Given the description of an element on the screen output the (x, y) to click on. 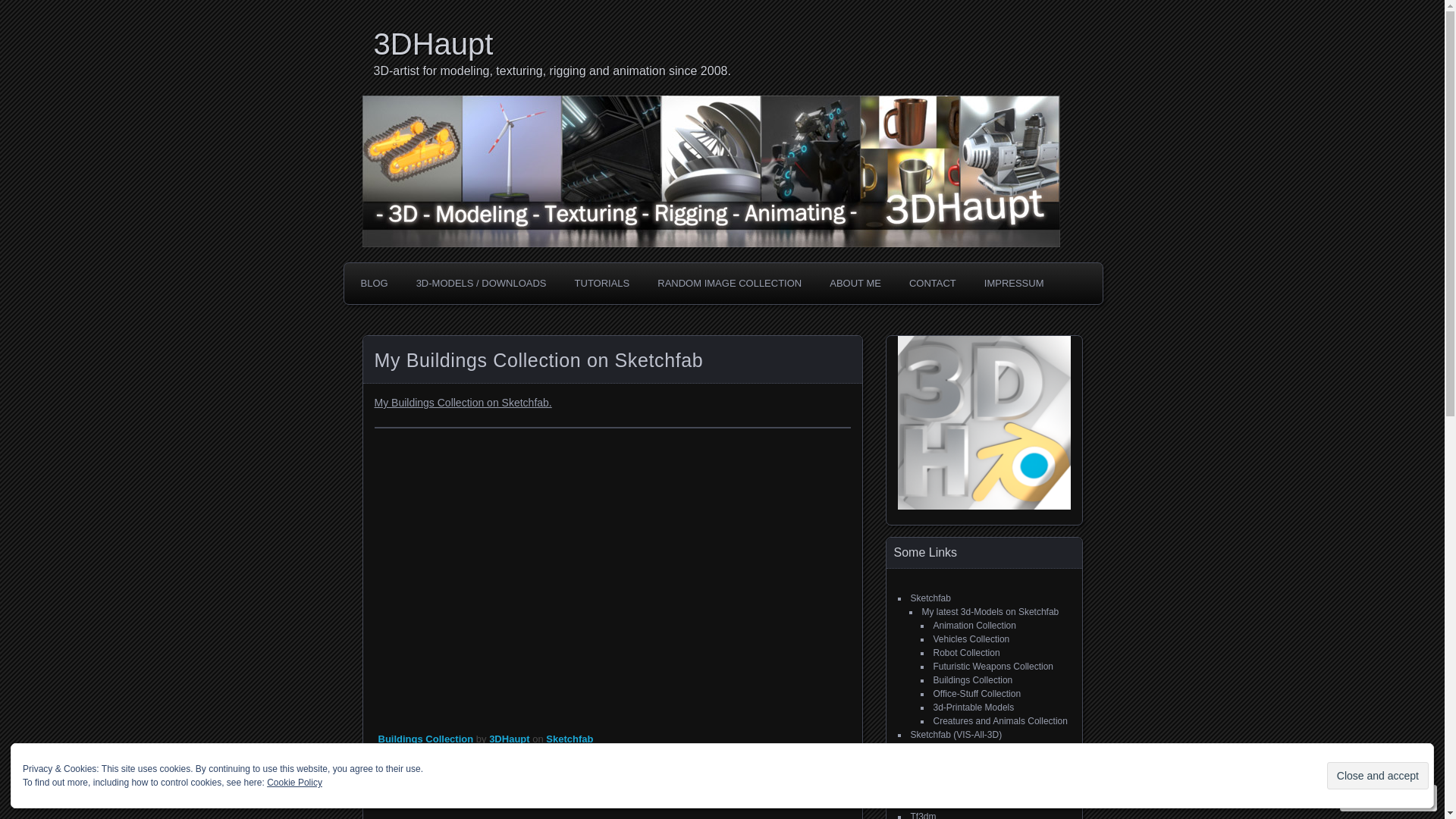
Creatures and Animals Collection Element type: text (999, 720)
Buildings Collection Element type: text (972, 679)
Buildings Collection Element type: text (425, 738)
BLOG Element type: text (373, 283)
Artstation Element type: text (929, 802)
Futuristic Weapons Collection Element type: text (992, 666)
3d-Printable Models Element type: text (972, 707)
3DHaupt Element type: text (727, 44)
3D-MODELS / DOWNLOADS Element type: text (481, 283)
TUTORIALS Element type: text (602, 283)
ABOUT ME Element type: text (855, 283)
CGTrader (VIS-All-3D) Element type: text (955, 775)
My free 3d models on CGTrader Element type: text (987, 761)
CONTACT Element type: text (932, 283)
CGTrader (Image Gallery) Element type: text (962, 789)
Robot Collection Element type: text (965, 652)
Sketchfab Element type: text (569, 738)
Cookie Policy Element type: text (294, 782)
Sketchfab (VIS-All-3D) Element type: text (955, 734)
My latest 3d-Models on Sketchfab Element type: text (990, 611)
Vehicles Collection Element type: text (970, 638)
3DHaupt Element type: text (509, 738)
Sketchfab Element type: text (930, 598)
Follow Element type: text (1374, 797)
My Buildings Collection on Sketchfab. Element type: text (463, 402)
RANDOM IMAGE COLLECTION Element type: text (729, 283)
Close and accept Element type: text (1377, 775)
IMPRESSUM Element type: text (1013, 283)
Animation Collection Element type: text (973, 625)
Office-Stuff Collection Element type: text (976, 693)
CGTrader Element type: text (930, 748)
